Given the description of an element on the screen output the (x, y) to click on. 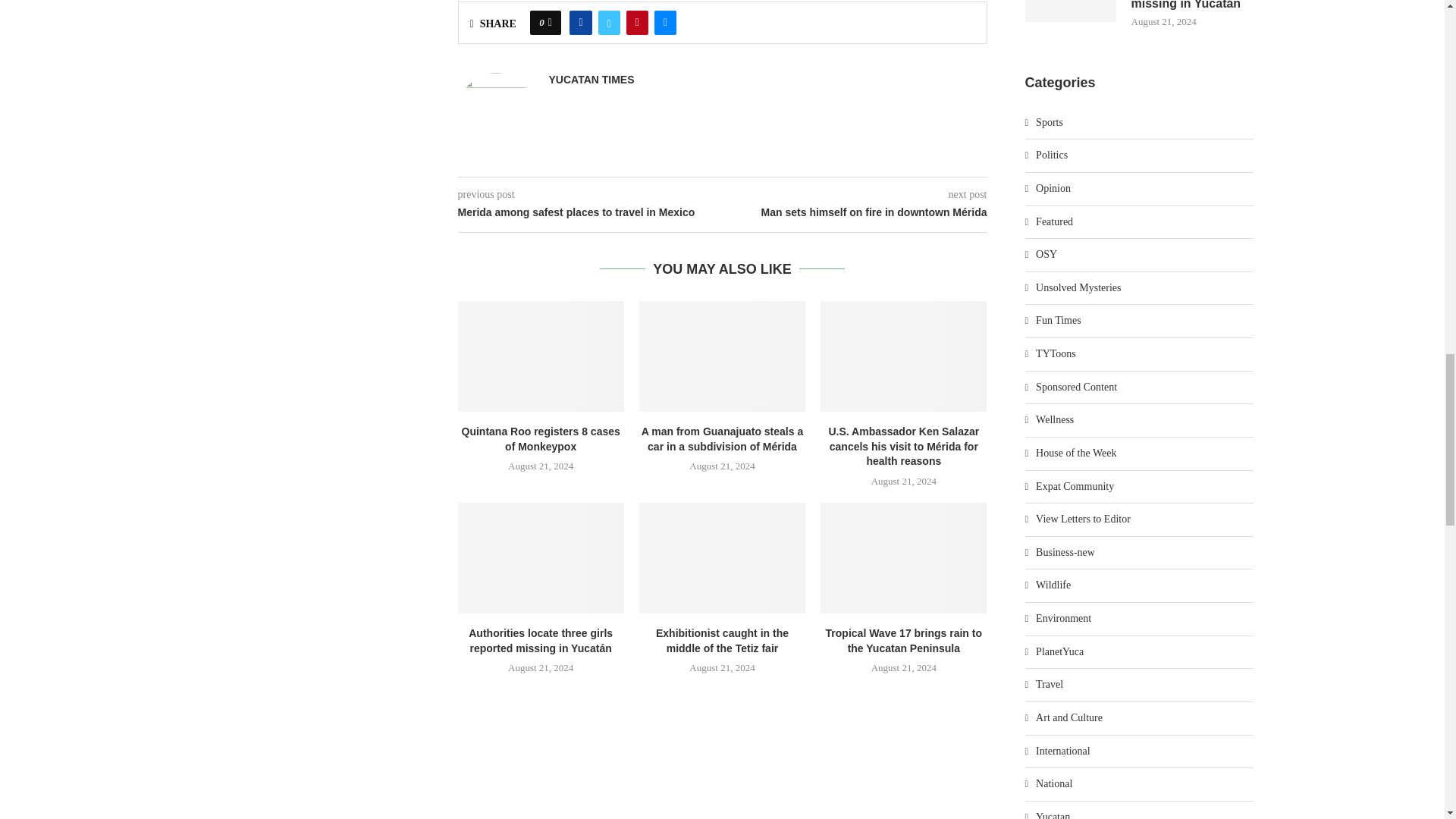
Quintana Roo registers 8 cases of Monkeypox (541, 356)
Exhibitionist caught in the middle of the Tetiz fair (722, 557)
Author Yucatan Times (591, 79)
